Given the description of an element on the screen output the (x, y) to click on. 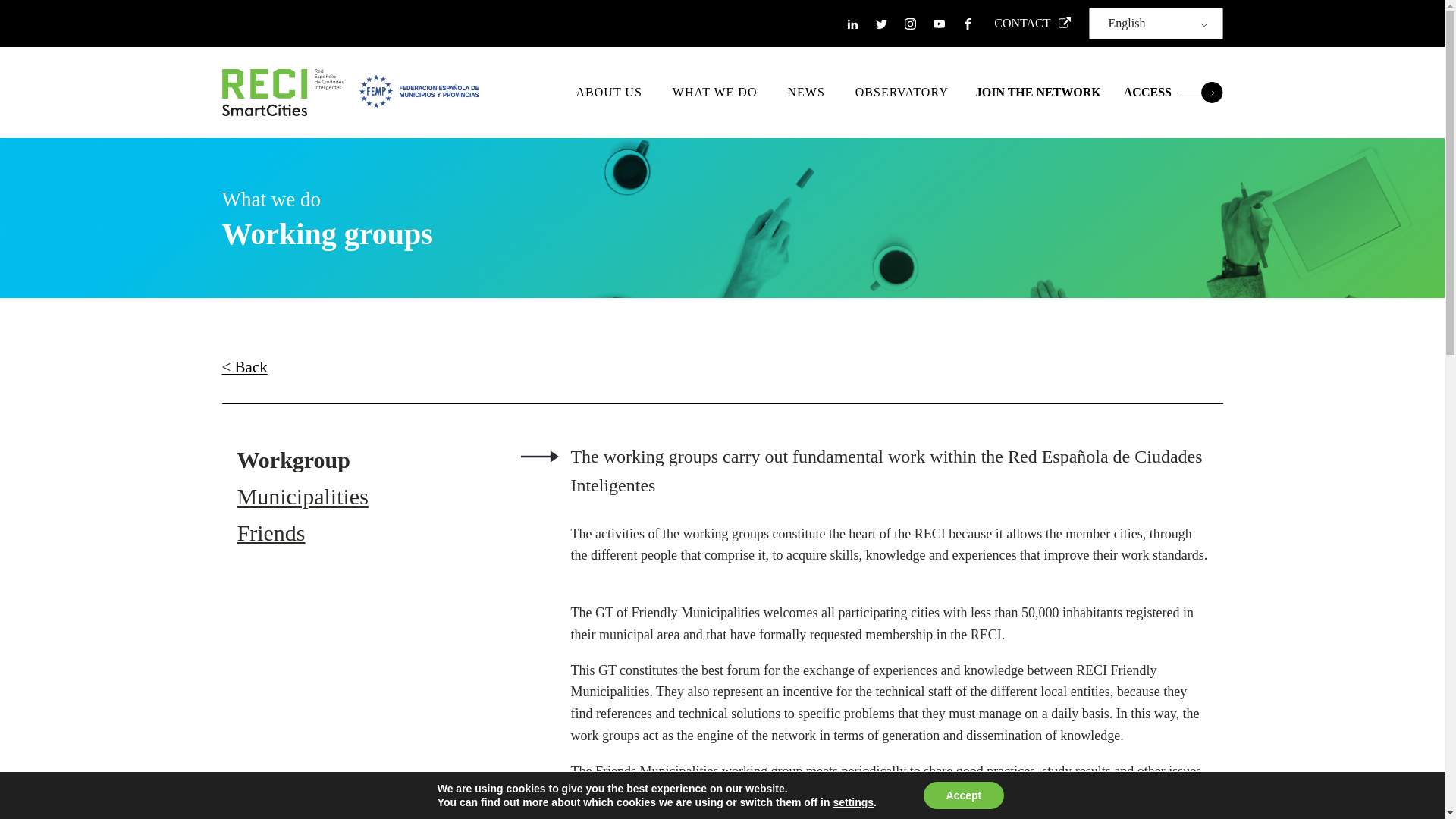
ACCESS (1173, 92)
English (1153, 23)
NEWS (805, 92)
CONTACT (1028, 23)
WHAT WE DO (715, 92)
OBSERVATORY (901, 92)
ABOUT US (609, 92)
JOIN THE NETWORK (1037, 92)
